Given the description of an element on the screen output the (x, y) to click on. 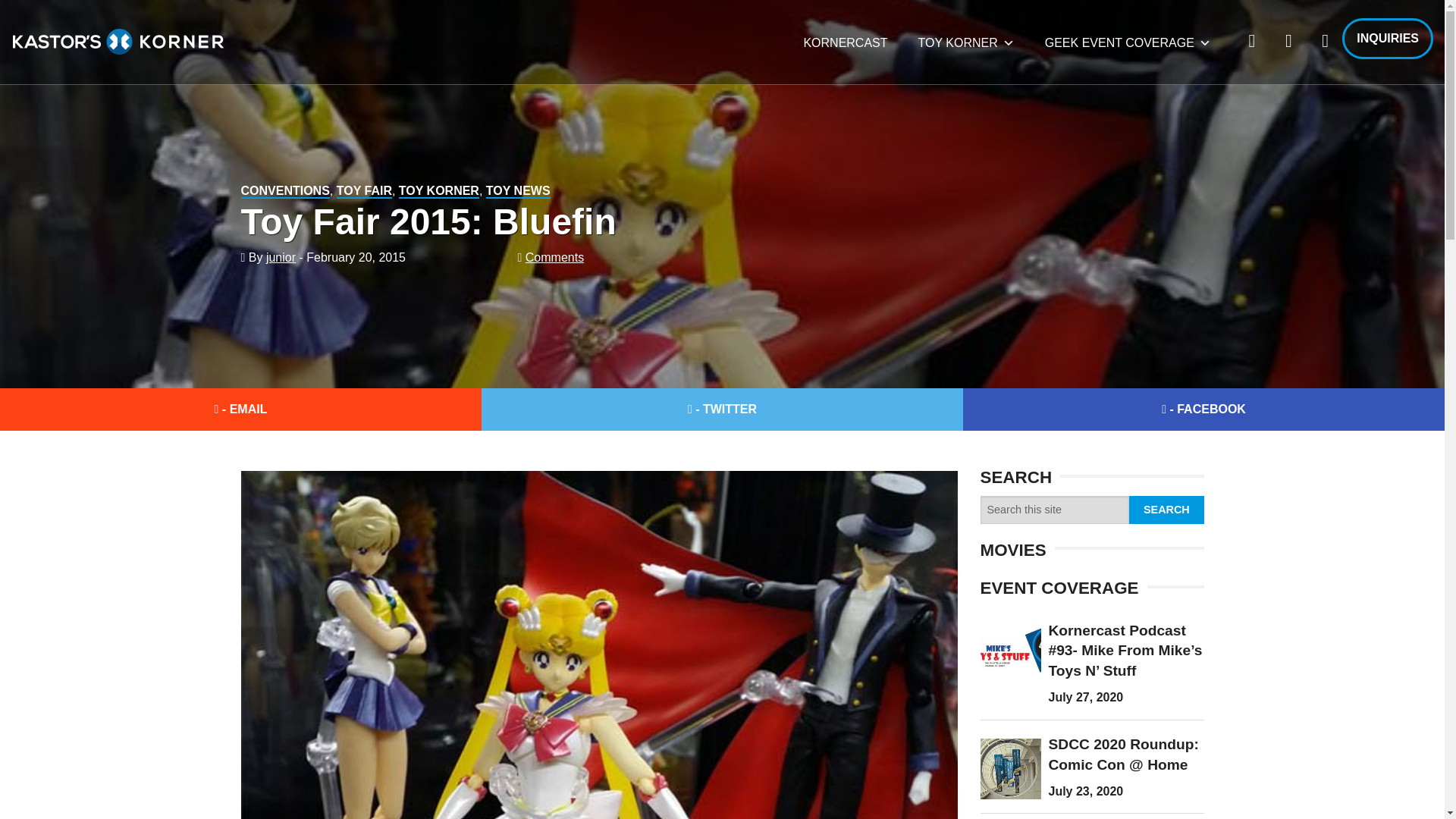
junior (280, 256)
Search (1166, 510)
- TWITTER (721, 409)
TOY FAIR (363, 191)
- EMAIL (240, 409)
INQUIRIES (1387, 38)
TOY NEWS (518, 191)
CONVENTIONS (285, 191)
Comments (554, 256)
GEEK EVENT COVERAGE (1127, 42)
TOY KORNER (965, 42)
KORNERCAST (844, 42)
Kastors Korner (117, 41)
TOY KORNER (438, 191)
